Given the description of an element on the screen output the (x, y) to click on. 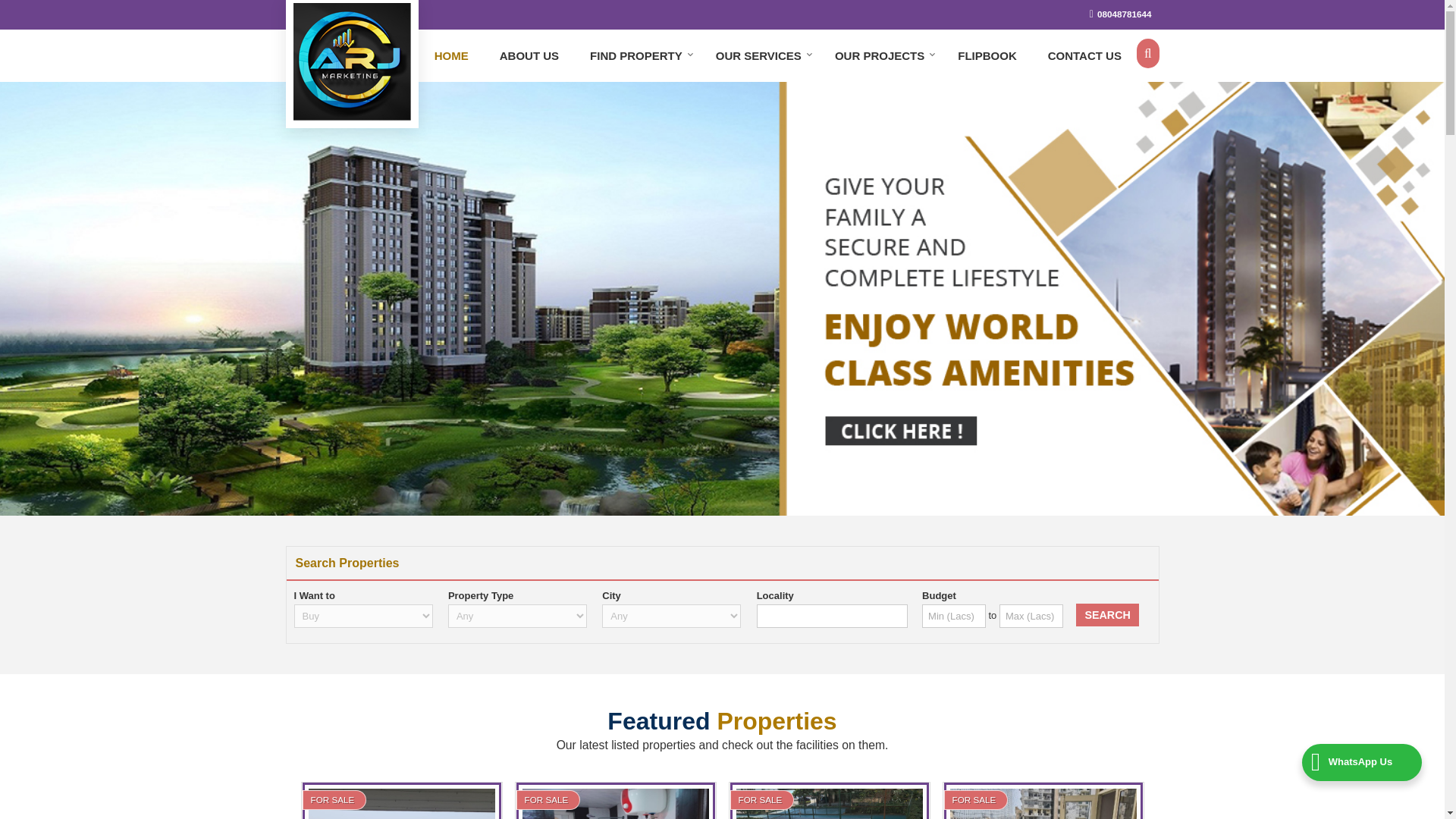
ARJ Marketing (351, 61)
Find Property (637, 55)
About Us (528, 55)
SEARCH (1106, 614)
FIND PROPERTY (637, 55)
Home (451, 55)
HOME (451, 55)
ABOUT US (528, 55)
